Given the description of an element on the screen output the (x, y) to click on. 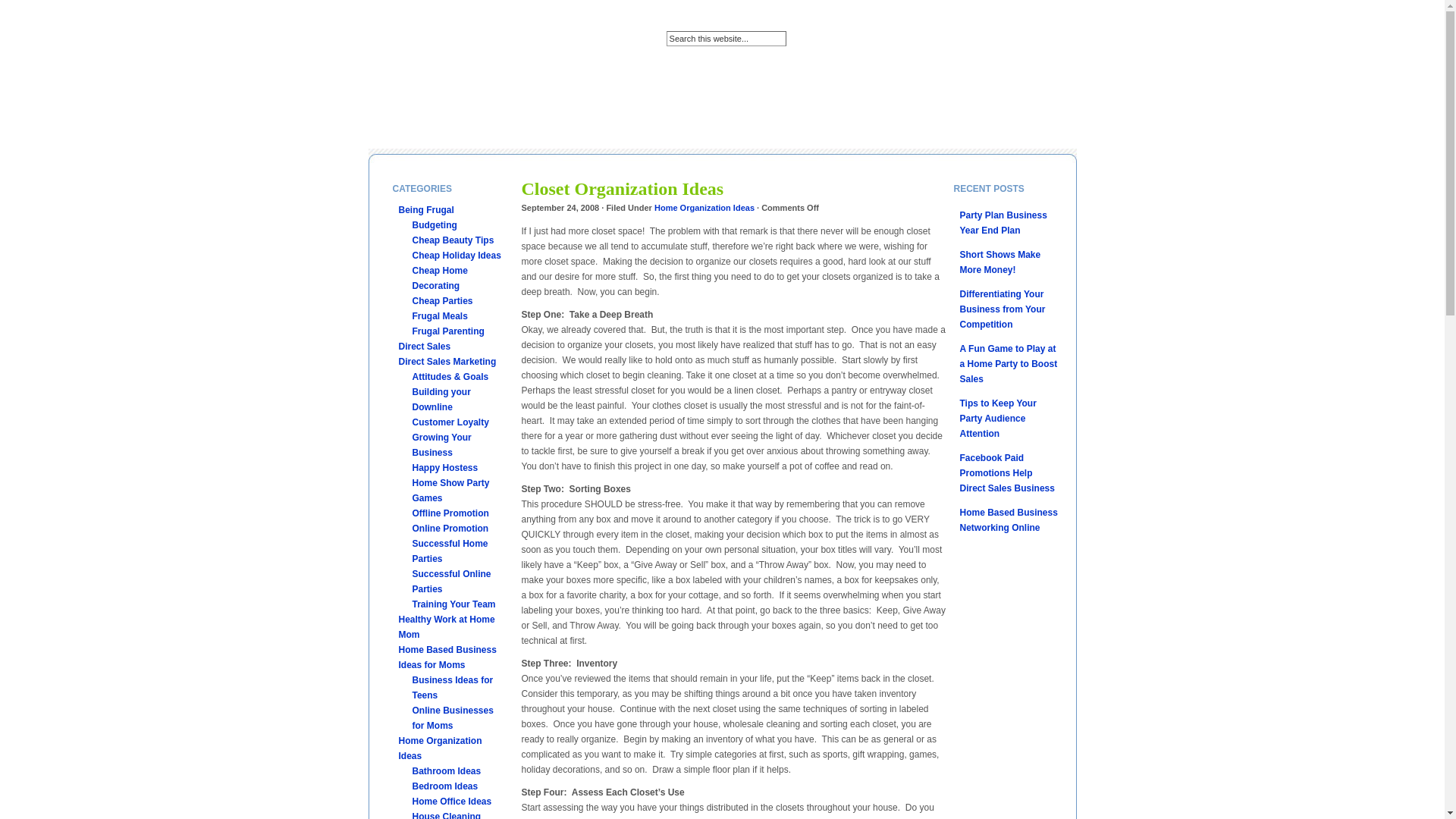
KIDS CRAFTS (692, 102)
DIRECT SALES OPPORTUNITIES (445, 132)
GO (801, 37)
HOME ORGANIZATION (599, 102)
FRUGAL MOMS (503, 102)
ABOUT (438, 102)
GO (801, 37)
OUR BOOKS ON AMAZON (790, 102)
STAY AT HOME SANITY (909, 102)
WAHM HEALTH (1007, 102)
